Given the description of an element on the screen output the (x, y) to click on. 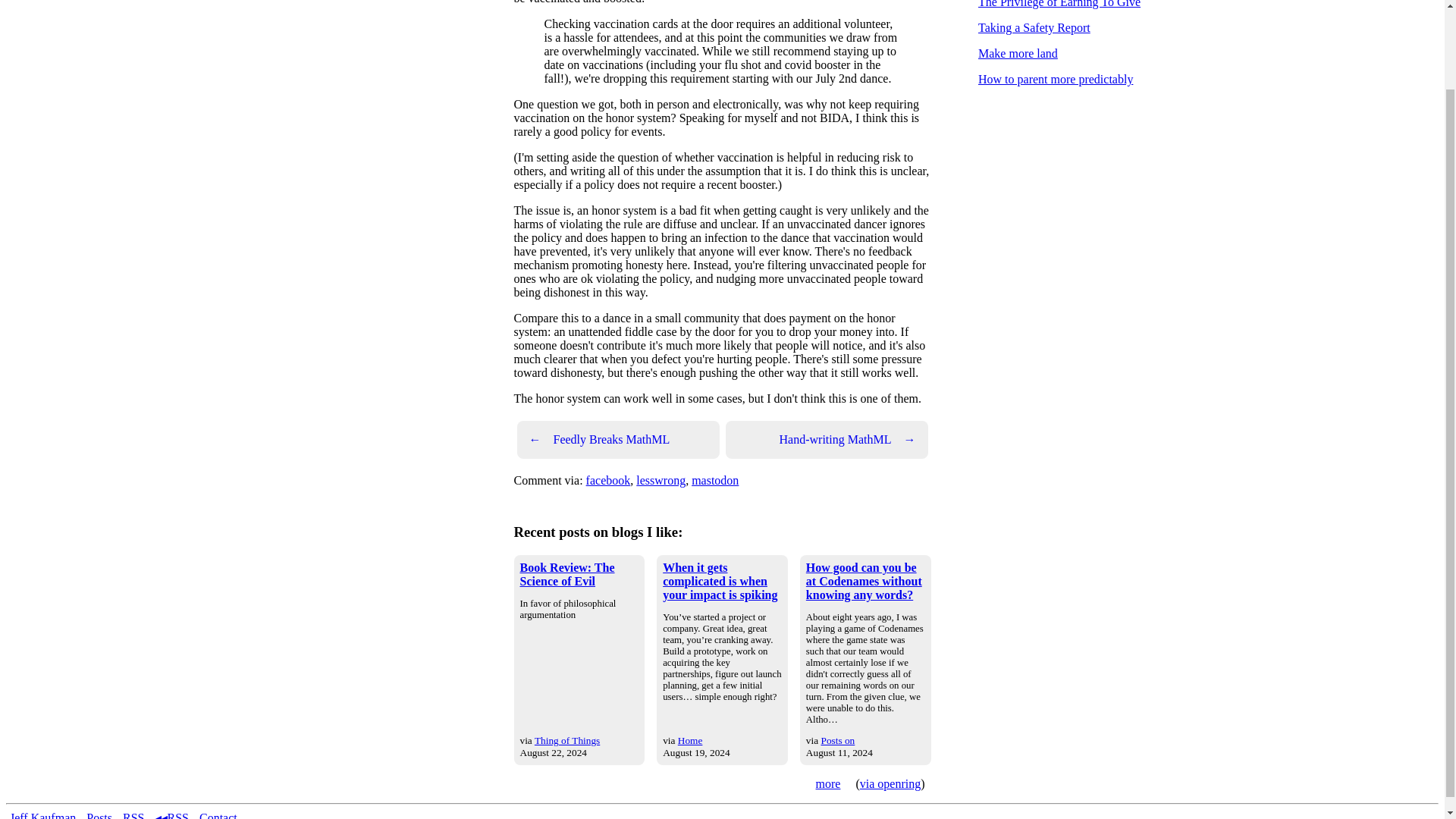
How to parent more predictably (1055, 78)
Posts on (837, 740)
How good can you be at Codenames without knowing any words? (863, 581)
lesswrong (660, 480)
Thing of Things (566, 740)
Book Review: The Science of Evil (566, 574)
via openring (890, 783)
When it gets complicated is when your impact is spiking (719, 581)
The Privilege of Earning To Give (1059, 4)
Home (690, 740)
